Given the description of an element on the screen output the (x, y) to click on. 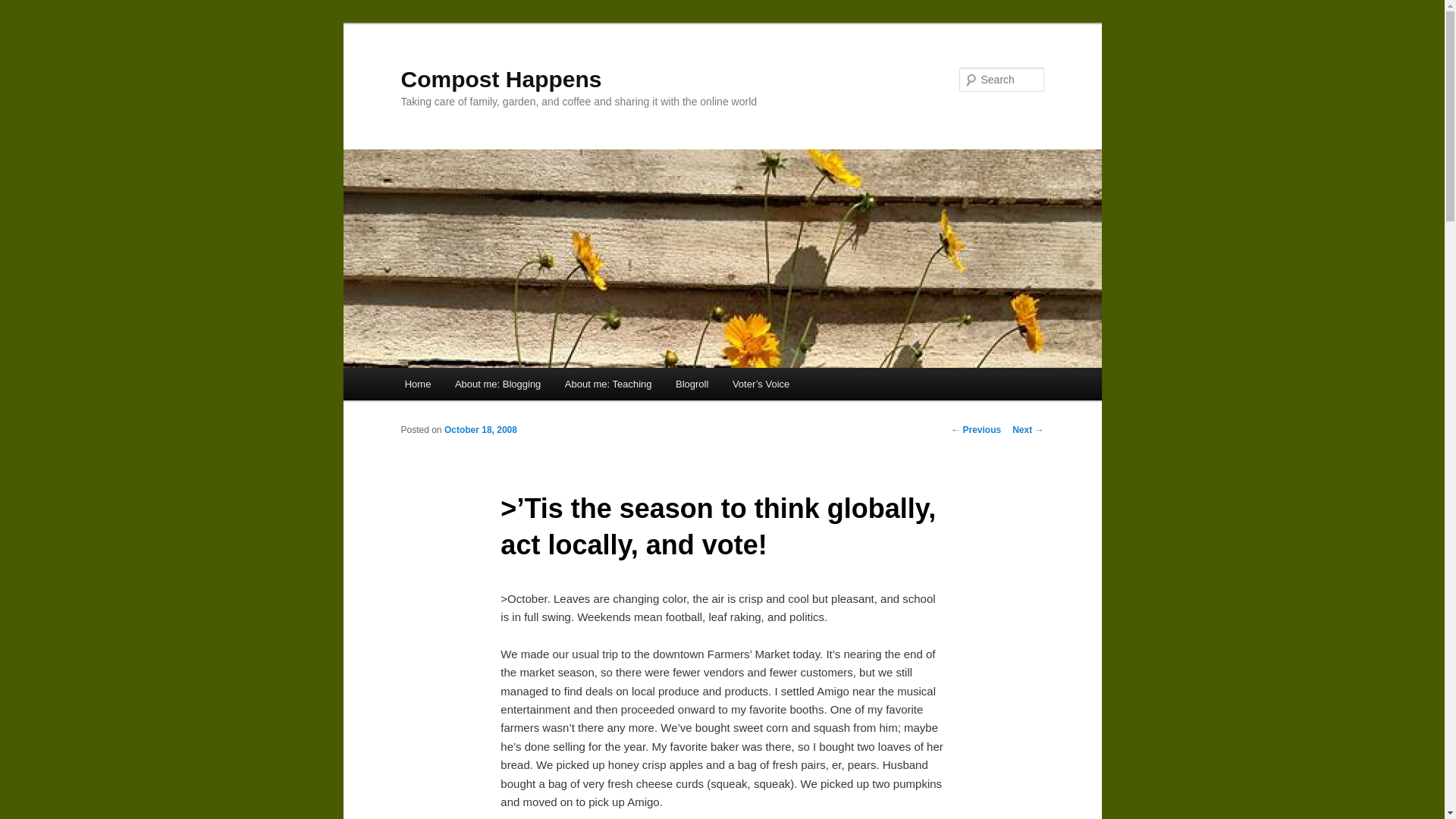
About me: Teaching (608, 383)
Compost Happens (500, 78)
1:08 pm (480, 429)
Home (417, 383)
Blogroll (691, 383)
About me: Blogging (497, 383)
Search (24, 8)
October 18, 2008 (480, 429)
